Given the description of an element on the screen output the (x, y) to click on. 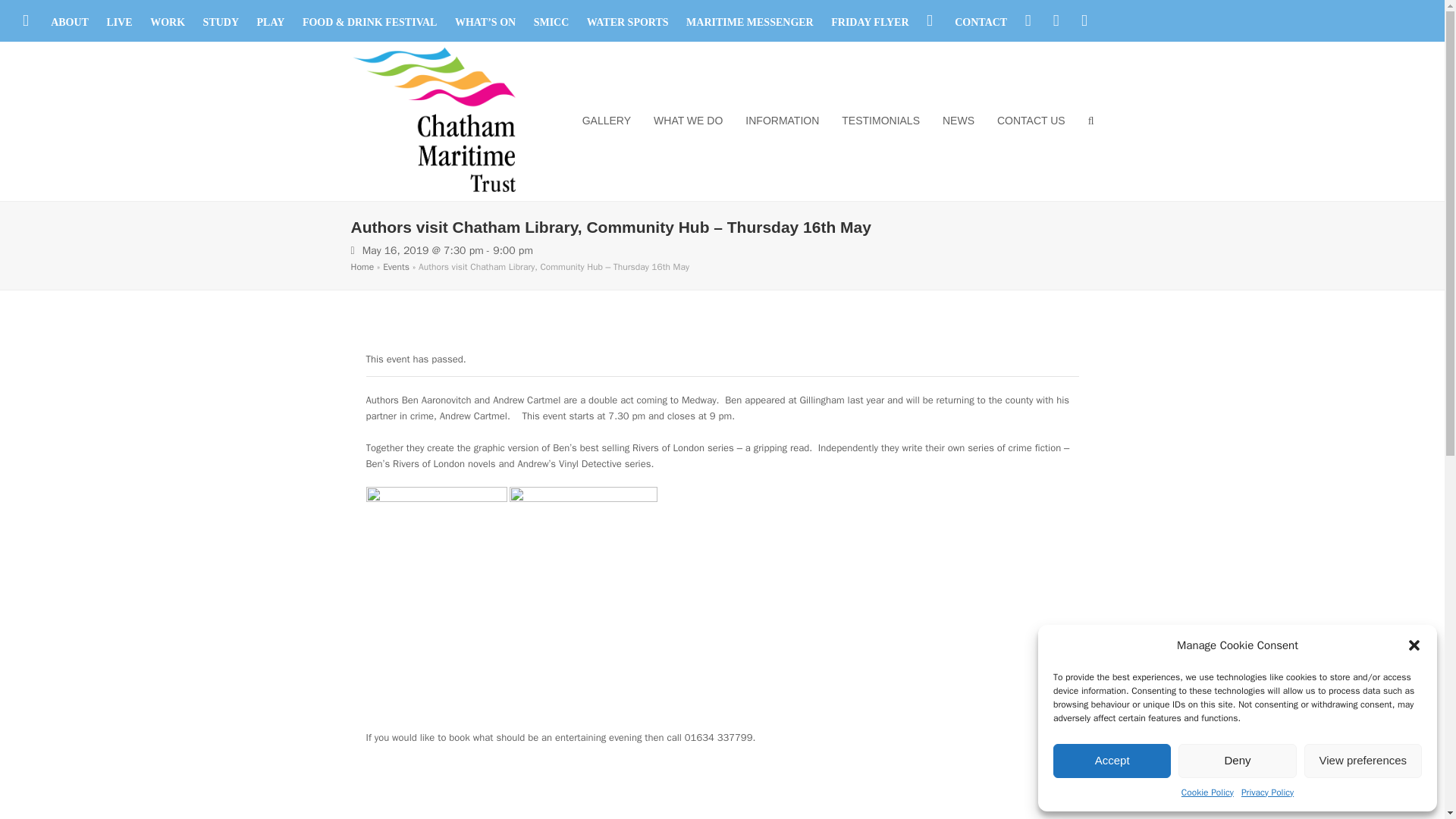
CONTACT US (1031, 121)
NEWS (958, 121)
SMICC (551, 21)
CONTACT (981, 21)
Deny (1236, 759)
GALLERY (606, 121)
WHAT WE DO (687, 121)
FRIDAY FLYER (869, 21)
Cookie Policy (1206, 792)
INFORMATION (781, 121)
PLAY (271, 21)
ABOUT (69, 21)
WORK (166, 21)
INFORMATION (781, 121)
Privacy Policy (1267, 792)
